Given the description of an element on the screen output the (x, y) to click on. 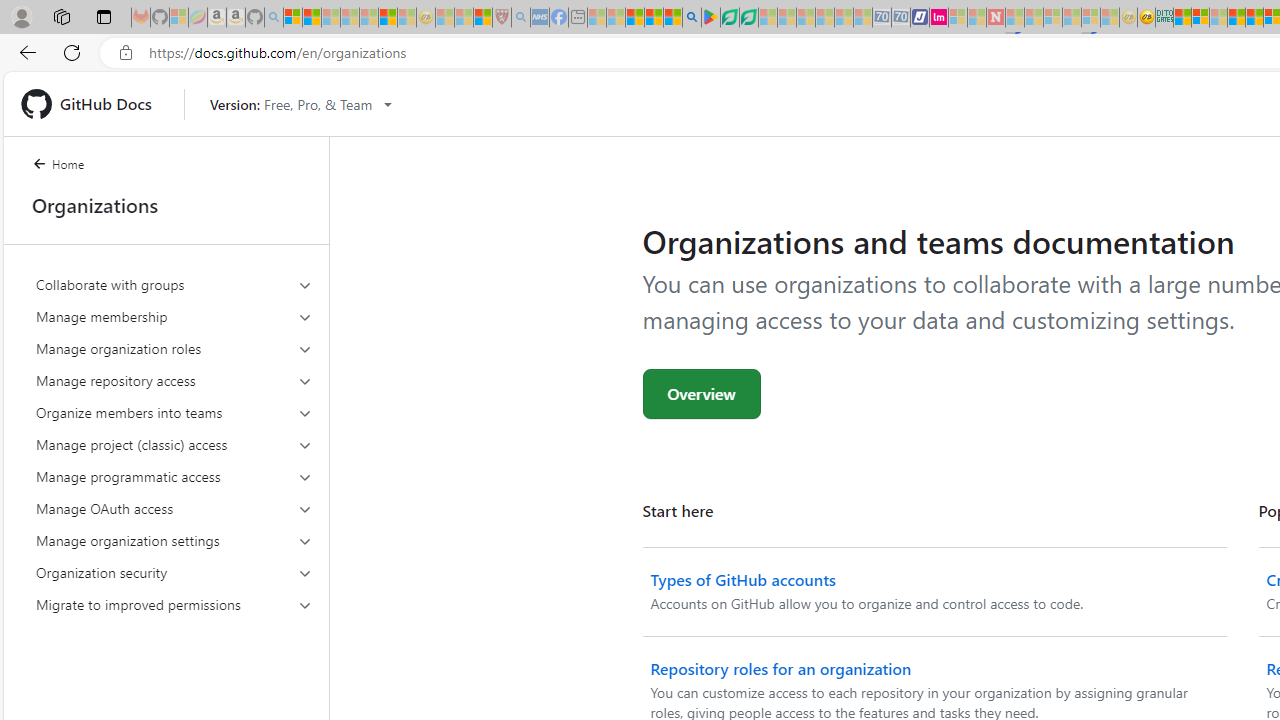
Expert Portfolios (1236, 17)
Migrate to improved permissions (174, 604)
Bluey: Let's Play! - Apps on Google Play (710, 17)
Jobs - lastminute.com Investor Portal (939, 17)
Manage repository access (174, 380)
